Given the description of an element on the screen output the (x, y) to click on. 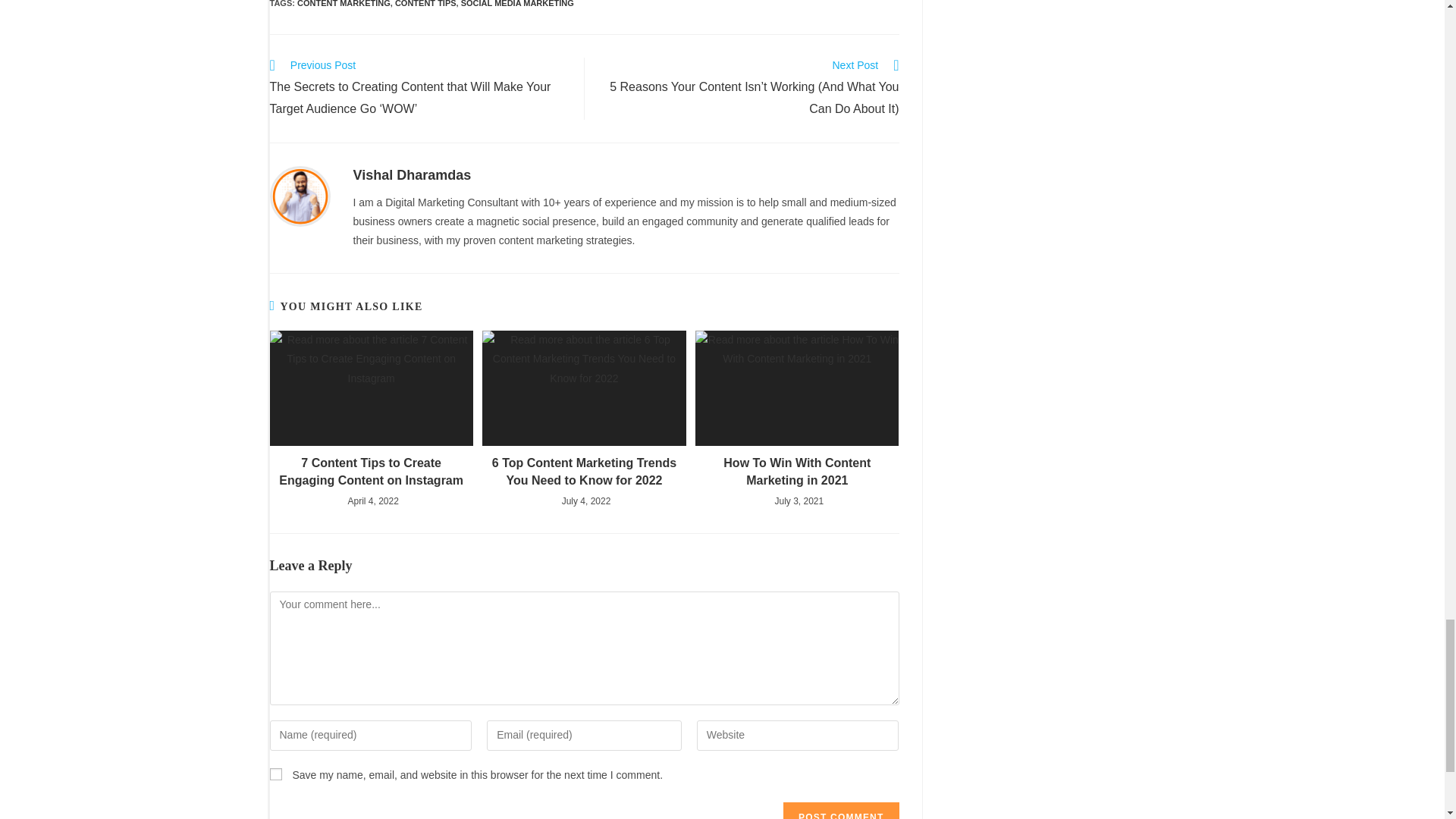
CONTENT TIPS (425, 3)
Visit author page (299, 195)
SOCIAL MEDIA MARKETING (517, 3)
Post Comment (840, 810)
yes (275, 774)
Post Comment (840, 810)
How To Win With Content Marketing in 2021 (796, 471)
Visit author page (412, 174)
6 Top Content Marketing Trends You Need to Know for 2022 (584, 471)
7 Content Tips to Create Engaging Content on Instagram (371, 471)
CONTENT MARKETING (343, 3)
Vishal Dharamdas (412, 174)
